Given the description of an element on the screen output the (x, y) to click on. 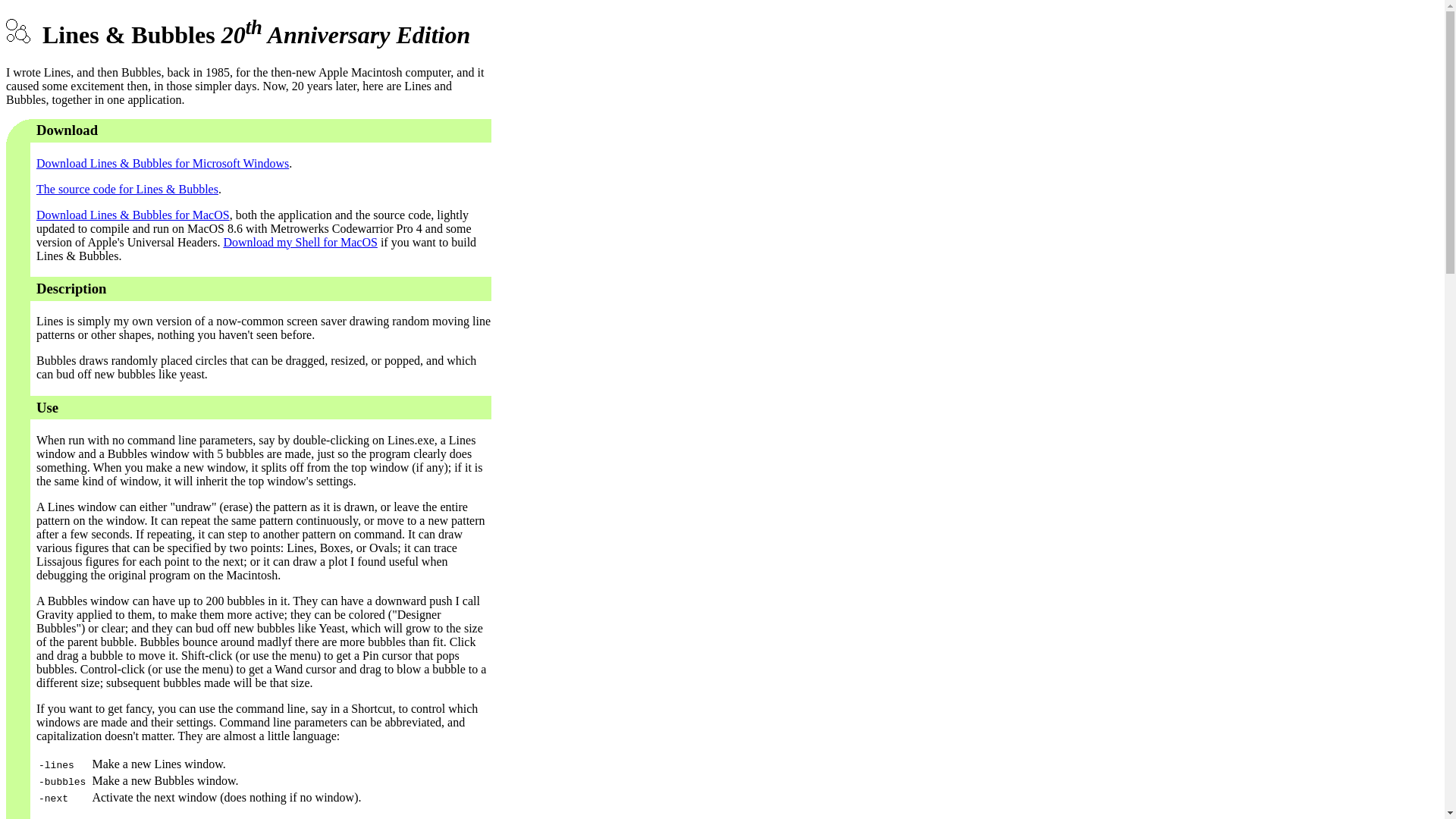
Download my Shell for MacOS (299, 241)
